Given the description of an element on the screen output the (x, y) to click on. 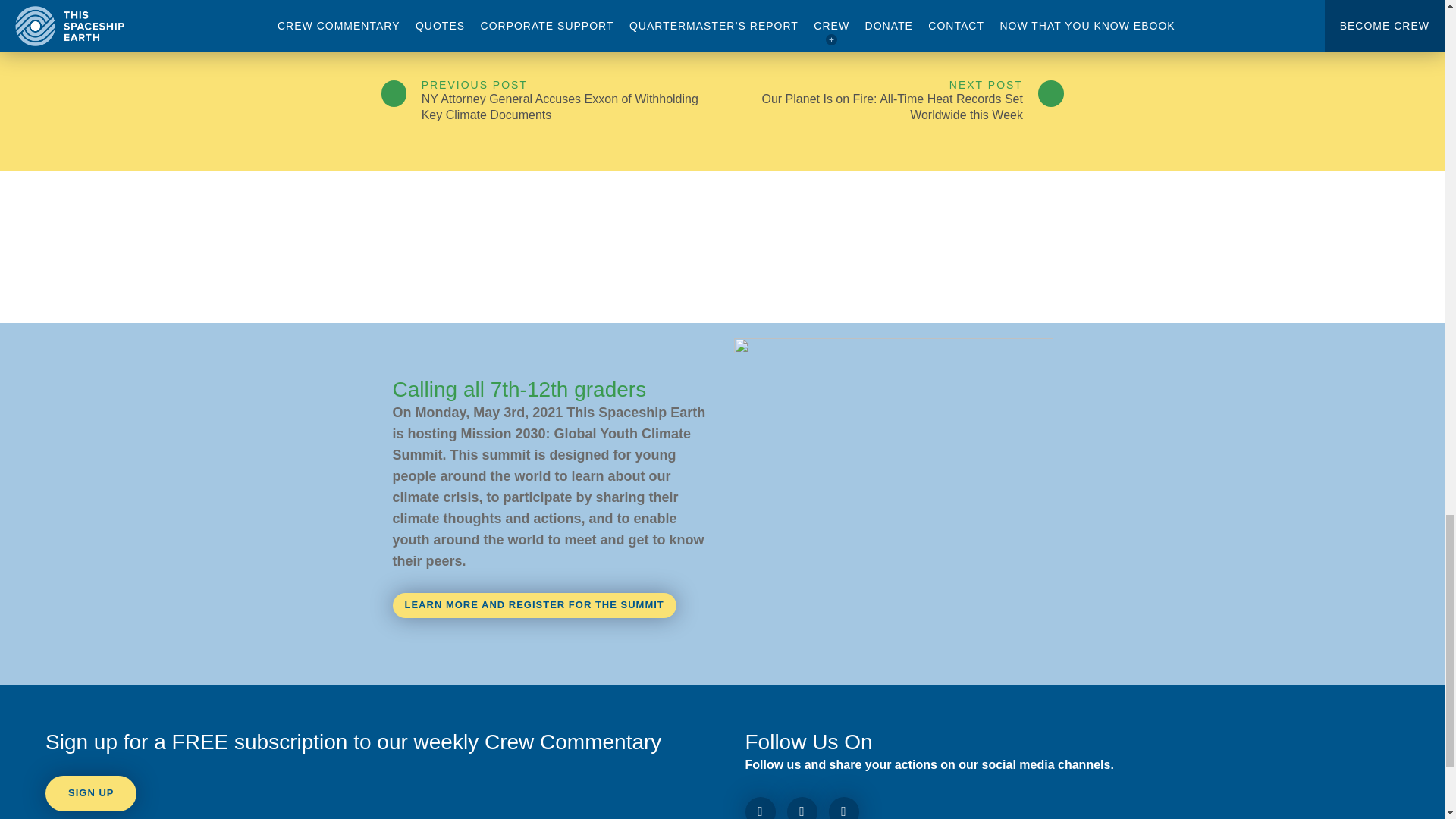
SIGN UP (90, 793)
LEARN MORE AND REGISTER FOR THE SUMMIT (535, 605)
